Given the description of an element on the screen output the (x, y) to click on. 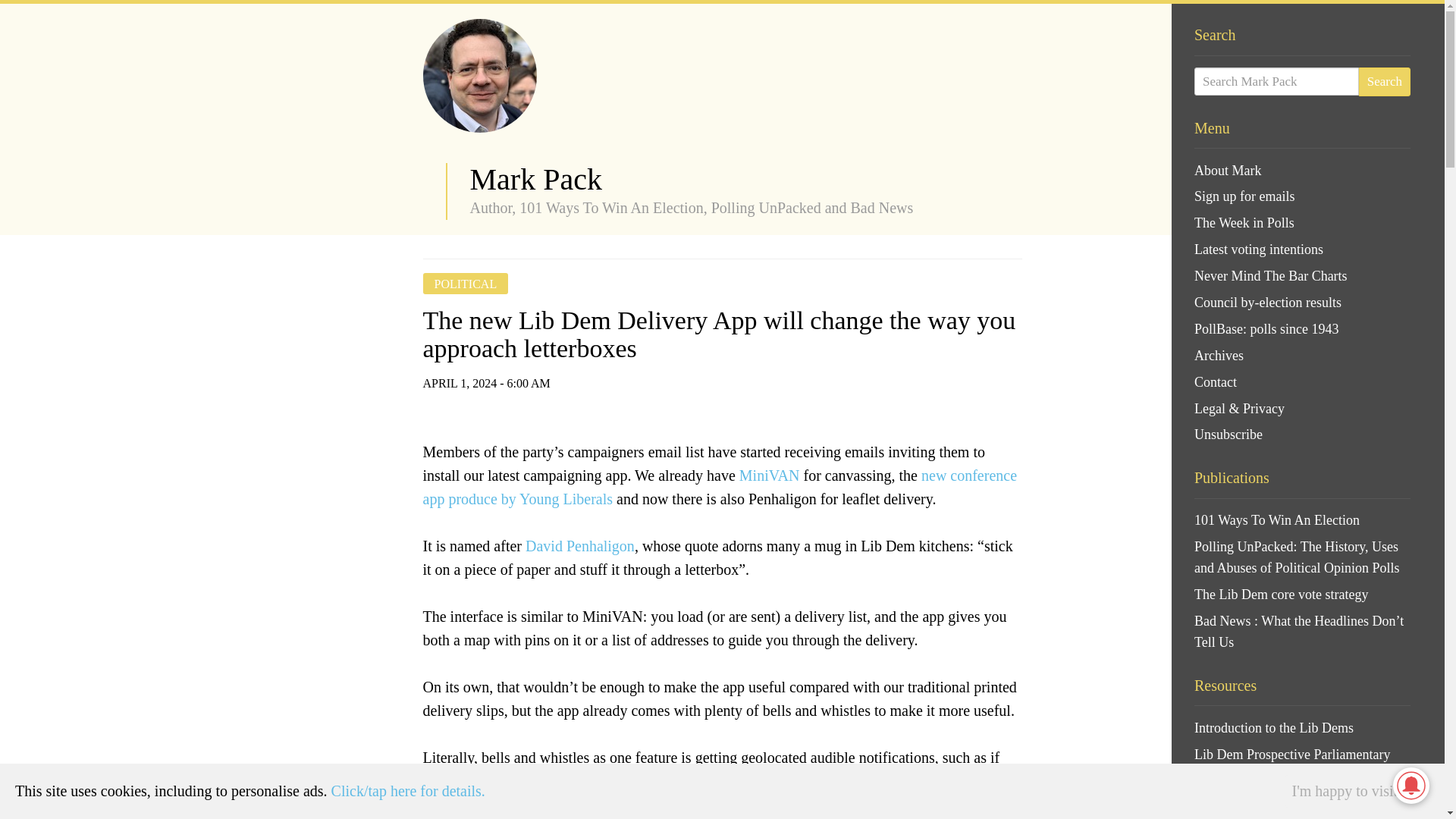
Search (1384, 81)
new conference app produce by Young Liberals (720, 486)
POLITICAL (465, 283)
About Mark (1301, 170)
MiniVAN (769, 475)
Sign up for emails (1301, 197)
David Penhaligon (579, 545)
Mark Pack (536, 179)
